Given the description of an element on the screen output the (x, y) to click on. 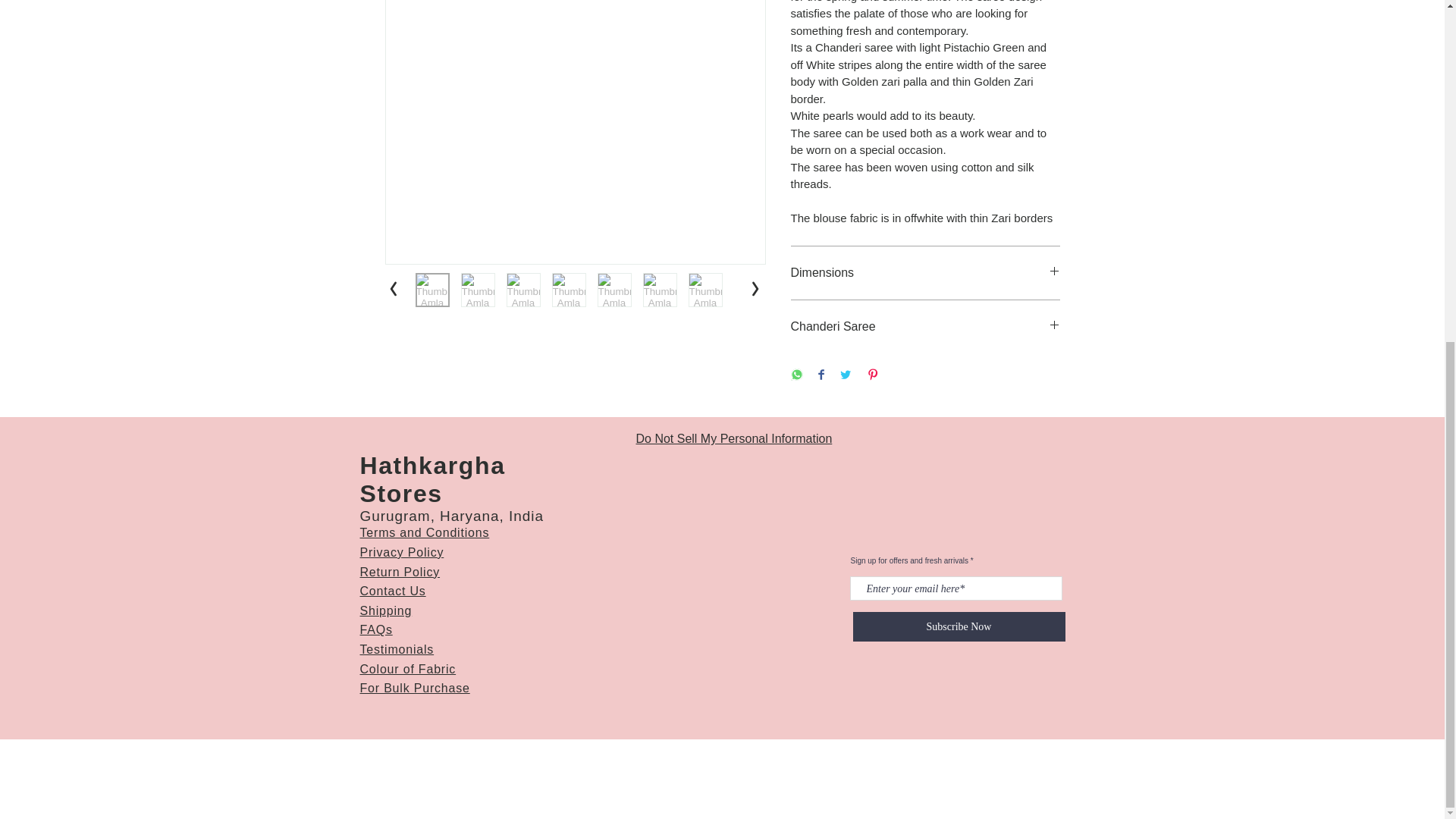
Chanderi Saree (924, 326)
Dimensions (924, 272)
Do Not Sell My Personal Information (732, 438)
